Given the description of an element on the screen output the (x, y) to click on. 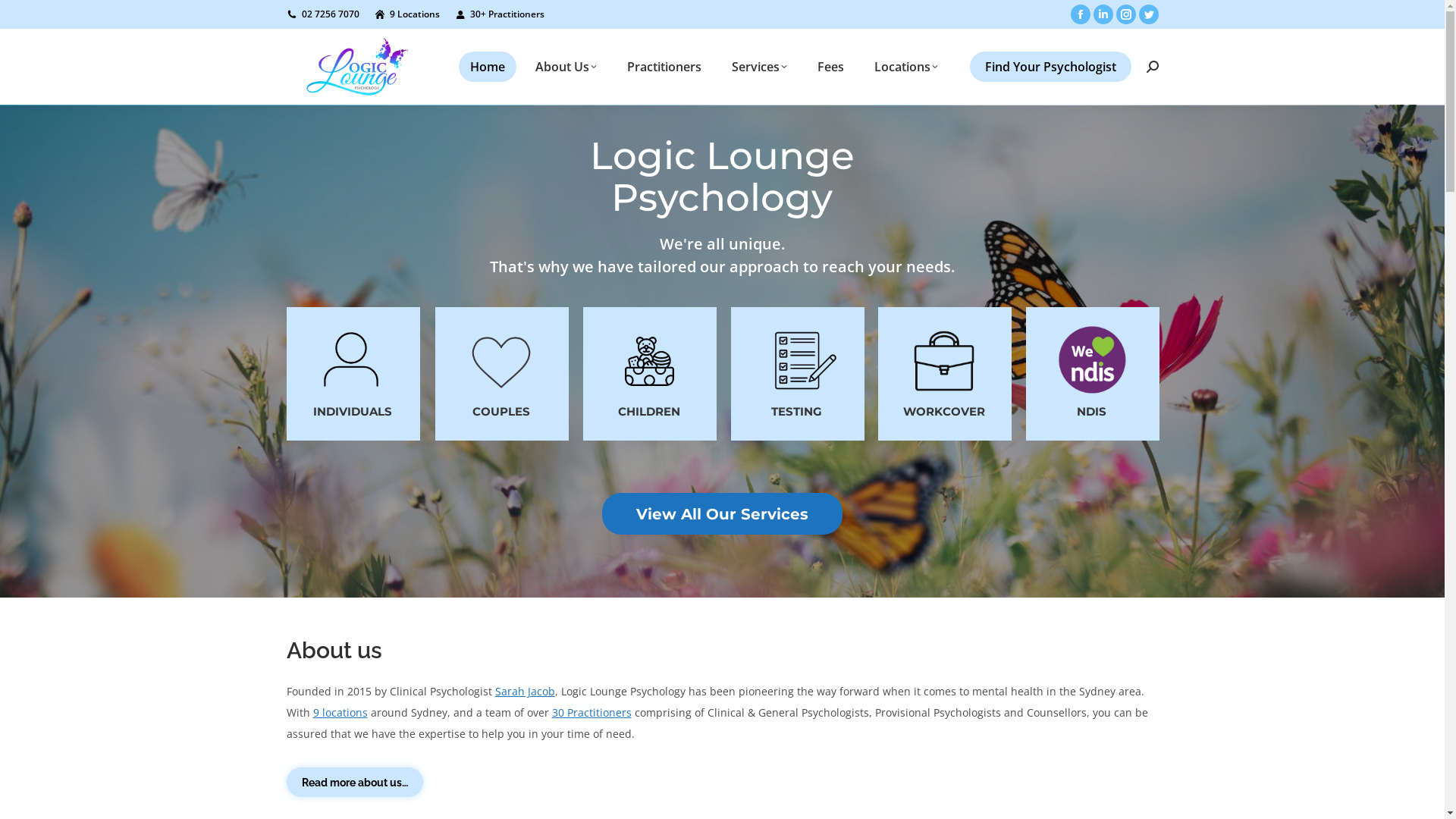
9 locations Element type: text (339, 712)
Find Your Psychologist Element type: text (1049, 66)
9 Locations Element type: text (406, 14)
30 Practitioners Element type: text (591, 712)
Go! Element type: text (746, 445)
02 7256 7070 Element type: text (322, 14)
Go! Element type: text (25, 16)
Practitioners Element type: text (663, 66)
Instagram page opens in new window Element type: text (1125, 14)
Twitter page opens in new window Element type: text (1148, 14)
30+ Practitioners Element type: text (499, 14)
Services Element type: text (759, 66)
Home Element type: text (486, 66)
Facebook page opens in new window Element type: text (1080, 14)
Locations Element type: text (905, 66)
Fees Element type: text (829, 66)
View All Our Services Element type: text (722, 513)
Sarah Jacob Element type: text (524, 691)
Linkedin page opens in new window Element type: text (1103, 14)
About Us Element type: text (565, 66)
